Given the description of an element on the screen output the (x, y) to click on. 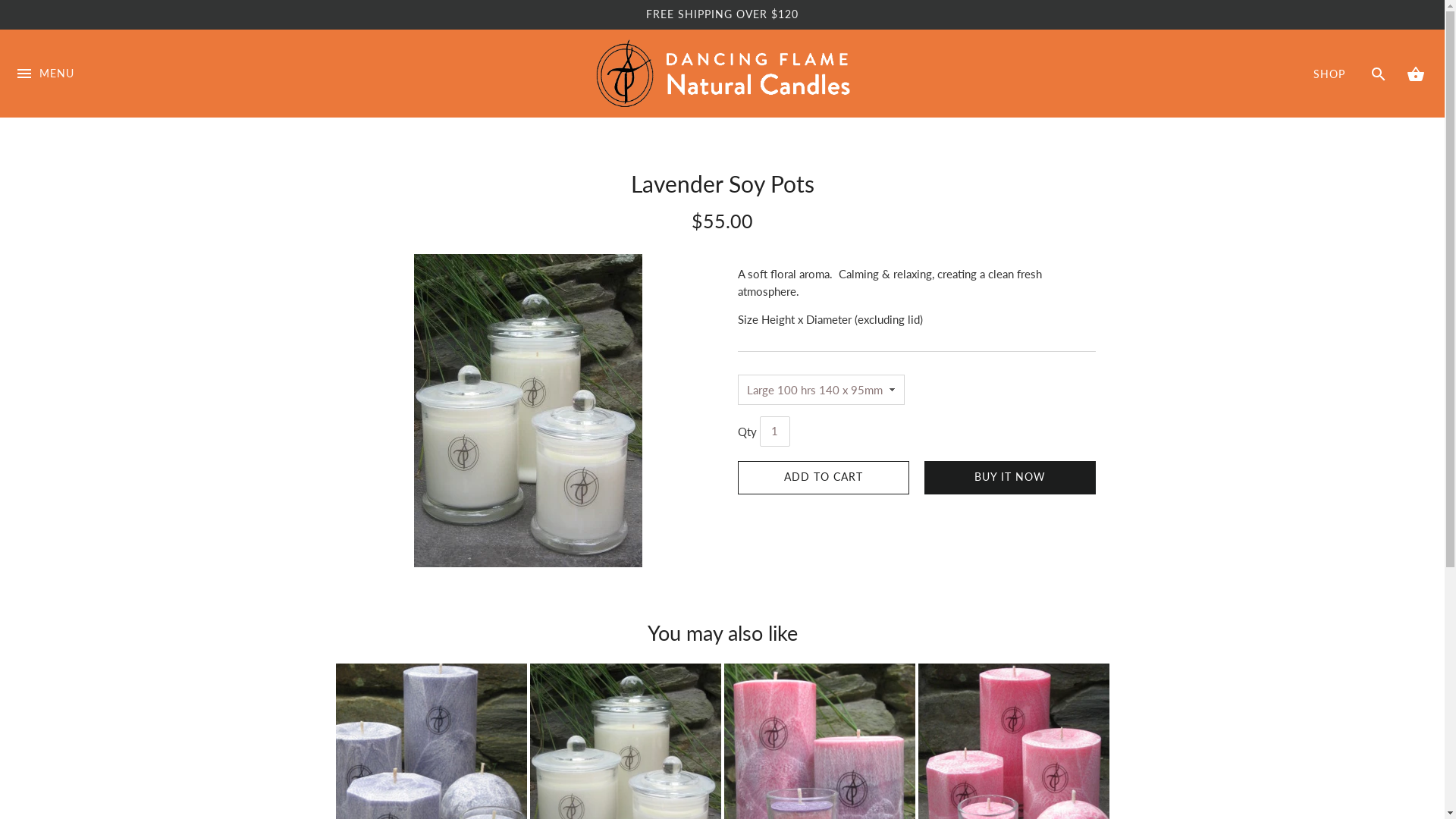
ADD TO CART Element type: text (822, 477)
BUY IT NOW Element type: text (1009, 477)
SHOP Element type: text (1329, 74)
FREE SHIPPING OVER $120 Element type: text (722, 14)
MENU Element type: text (44, 89)
CART Element type: text (1414, 73)
SEARCH Element type: text (1378, 72)
